Given the description of an element on the screen output the (x, y) to click on. 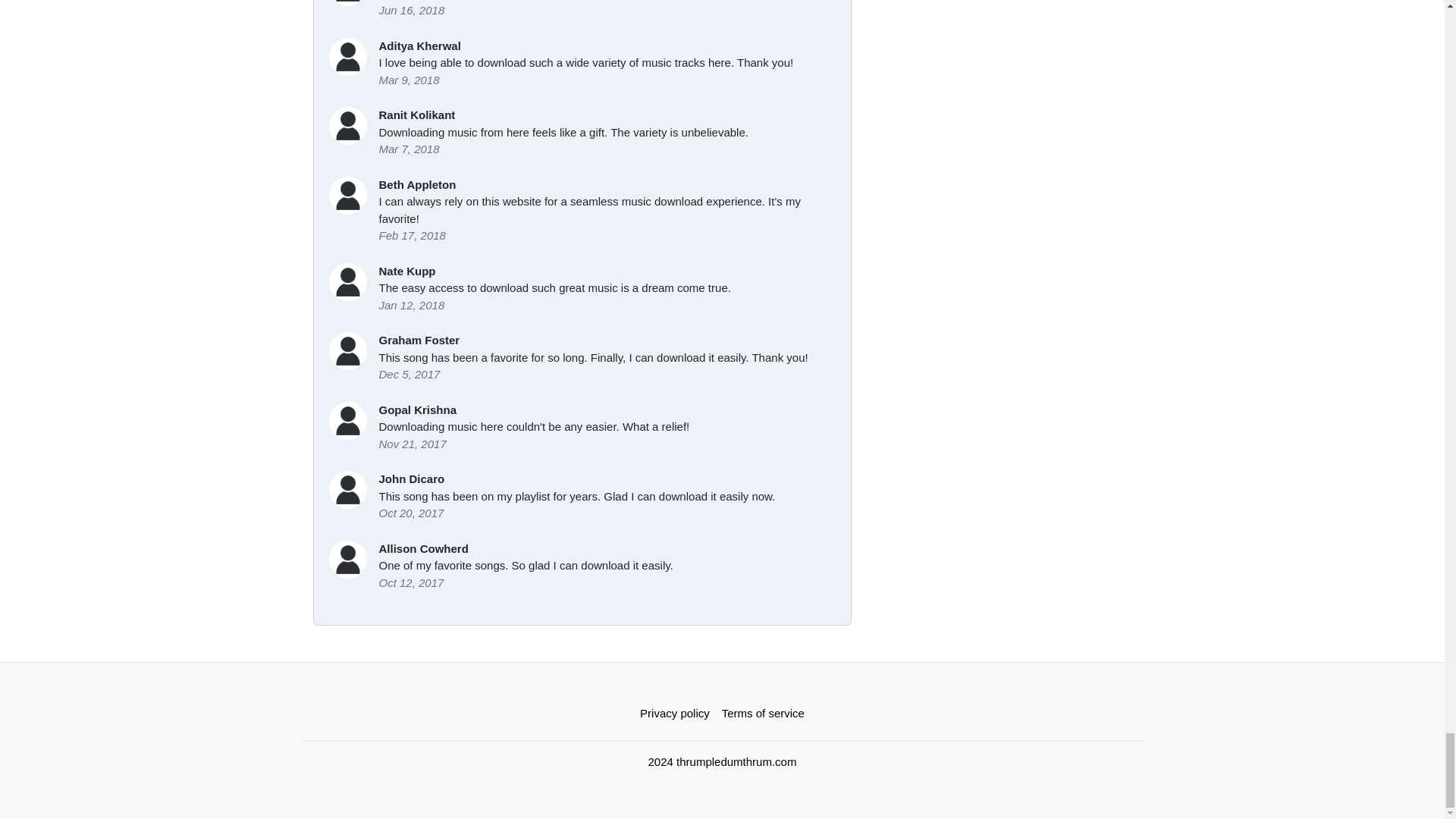
Privacy policy (674, 713)
Terms of service (763, 713)
